Given the description of an element on the screen output the (x, y) to click on. 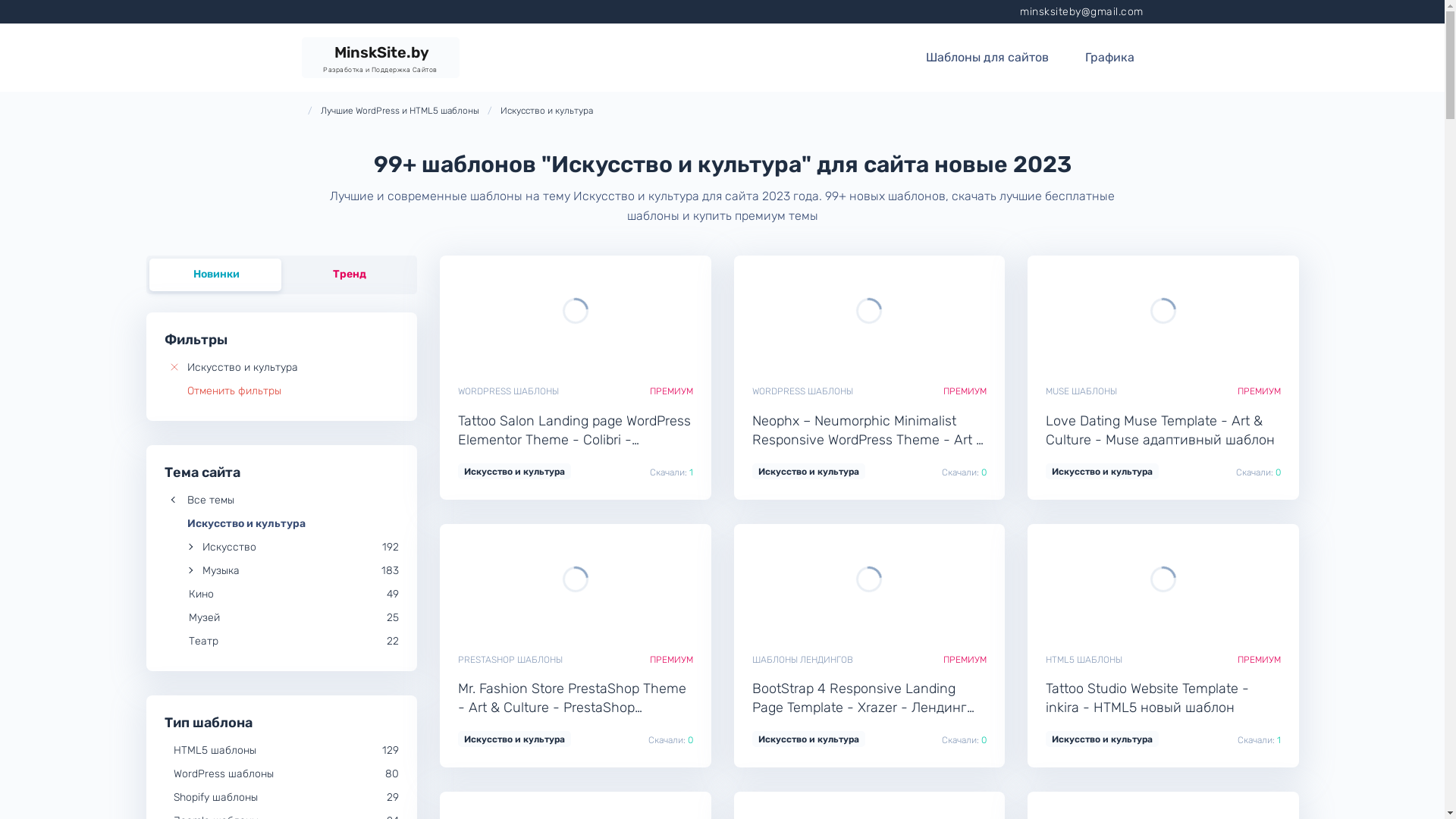
minsksiteby@gmail.com Element type: text (1081, 11)
Mr. Fashion Store PrestaShop Theme Element type: hover (494, 579)
Tattoo Studio Website Template Element type: hover (1082, 579)
BootStrap 4 Responsive Landing Page Template Element type: hover (789, 579)
Tattoo Salon Landing page WordPress Elementor Theme Element type: hover (494, 310)
Love Dating Muse Template Element type: hover (1082, 310)
